Given the description of an element on the screen output the (x, y) to click on. 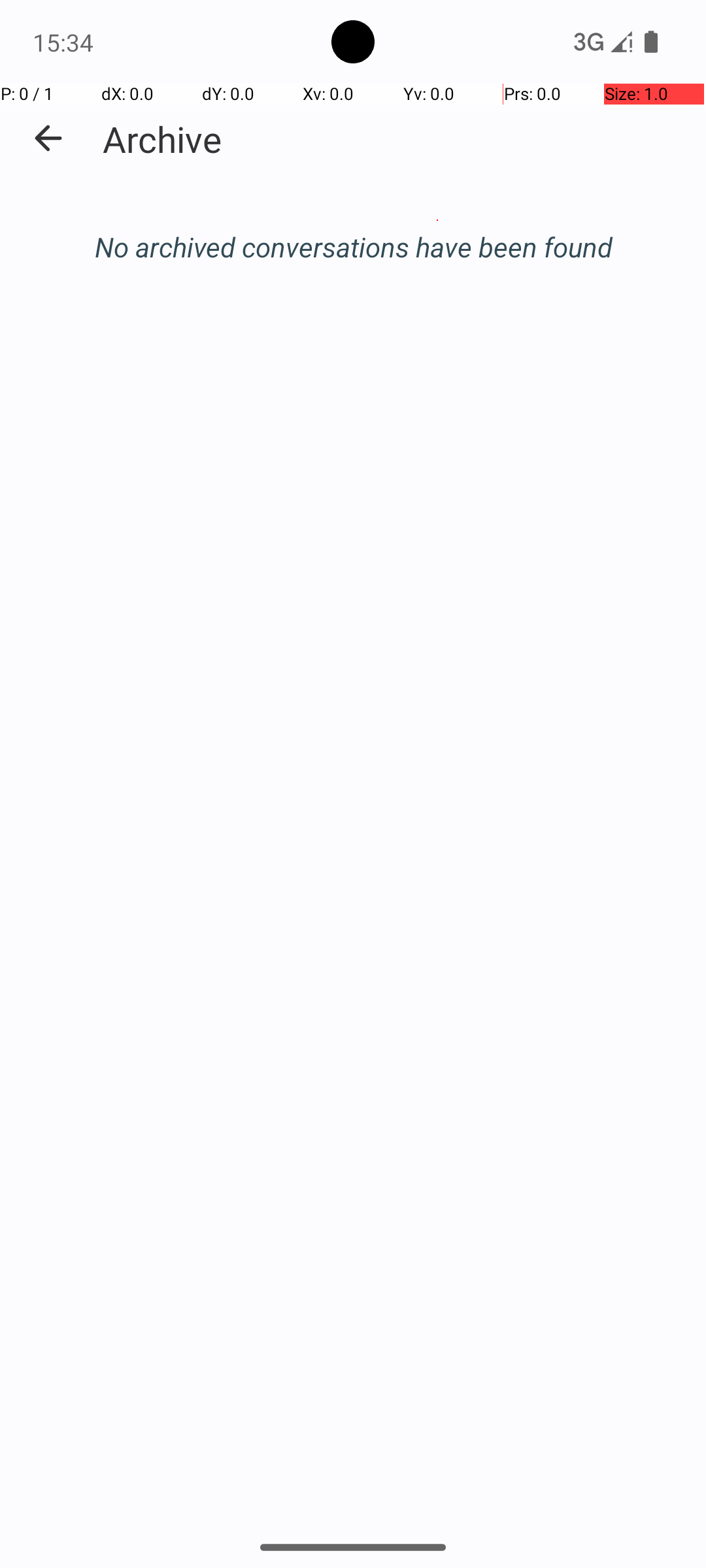
Archive Element type: android.widget.TextView (162, 138)
No archived conversations have been found Element type: android.widget.TextView (353, 246)
